Given the description of an element on the screen output the (x, y) to click on. 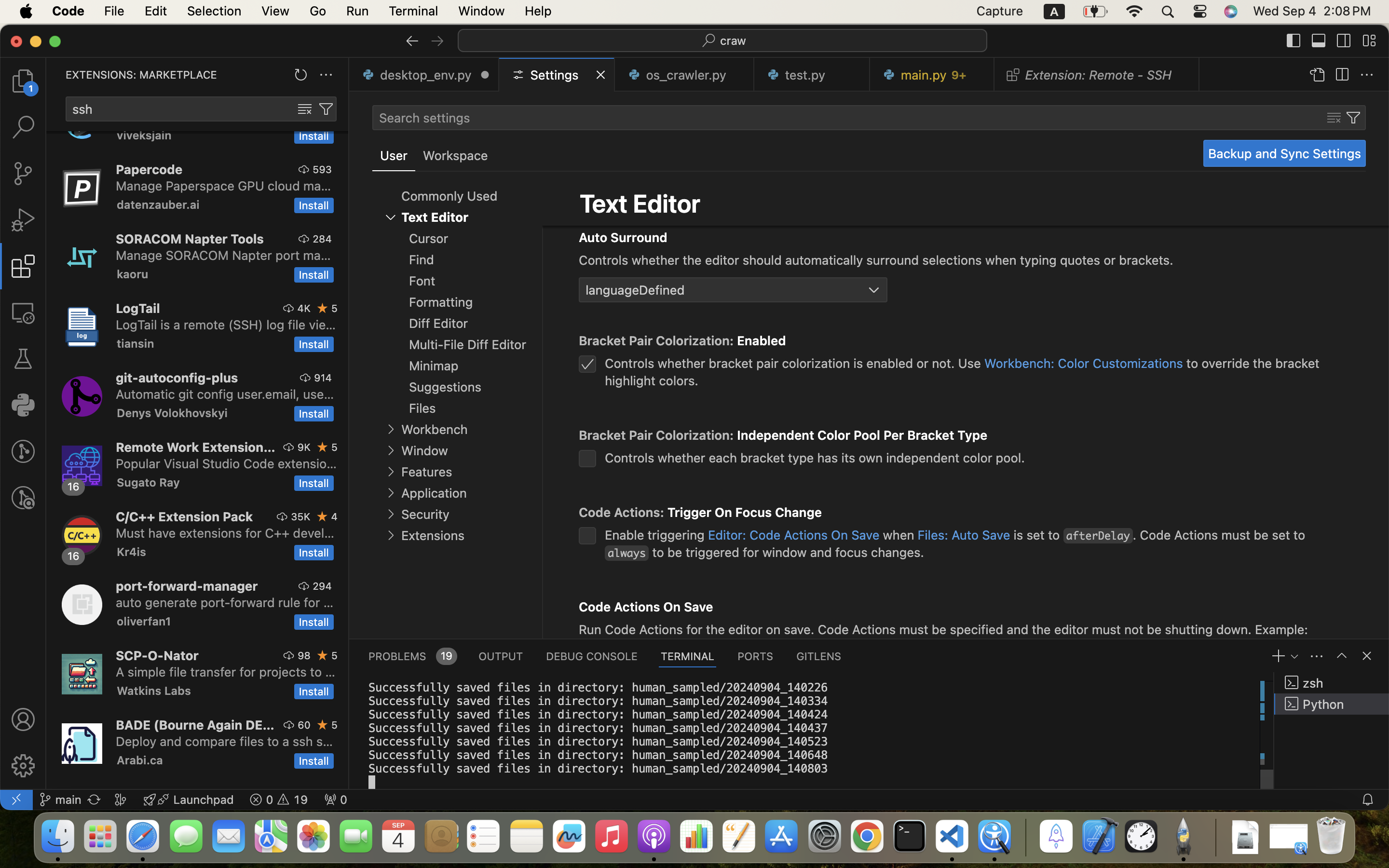
Features Element type: AXStaticText (426, 471)
Font Element type: AXStaticText (421, 280)
9K Element type: AXStaticText (303, 446)
914 Element type: AXStaticText (322, 377)
 Element type: AXCheckBox (1293, 40)
